Given the description of an element on the screen output the (x, y) to click on. 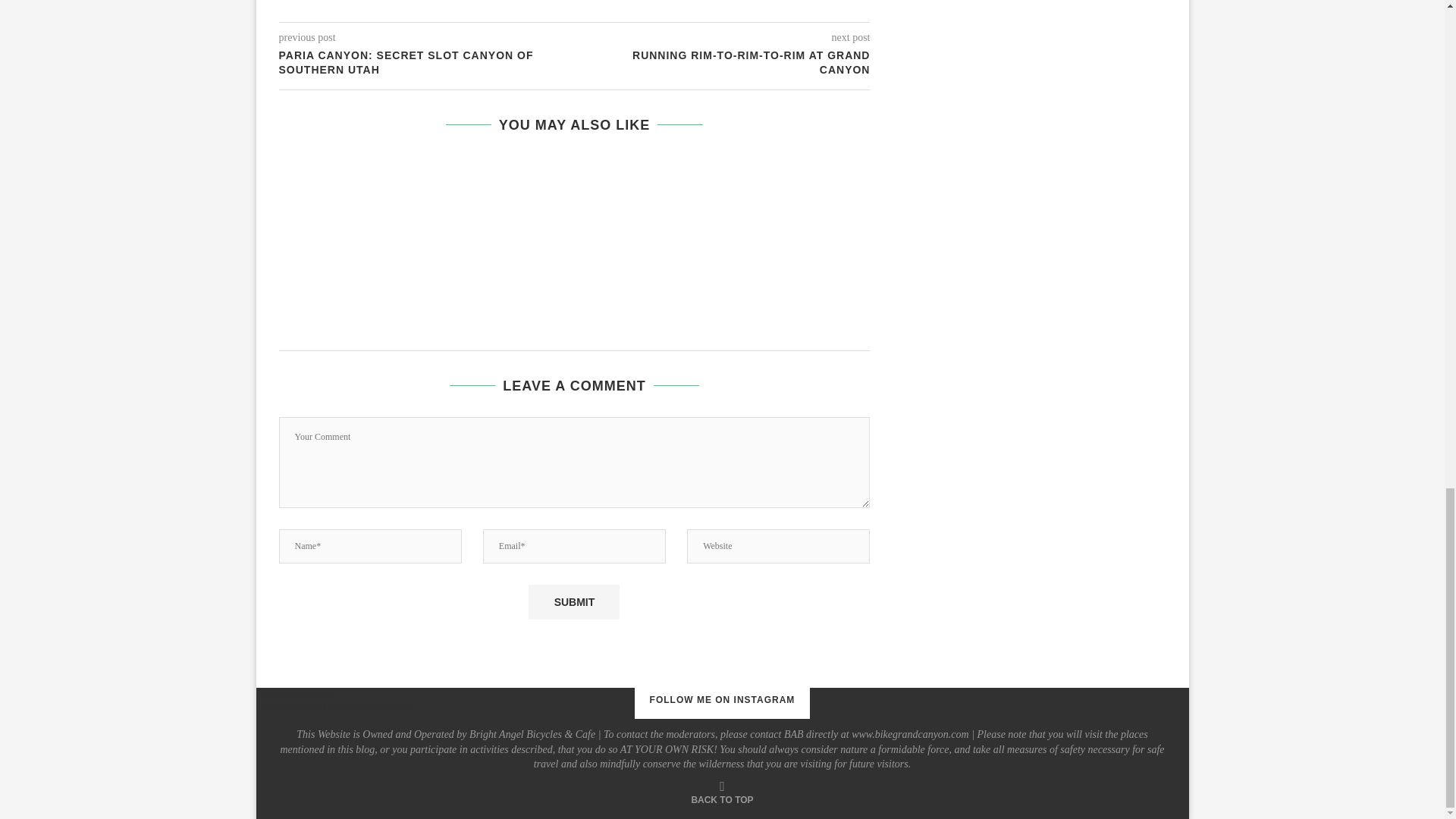
Submit (574, 601)
